Given the description of an element on the screen output the (x, y) to click on. 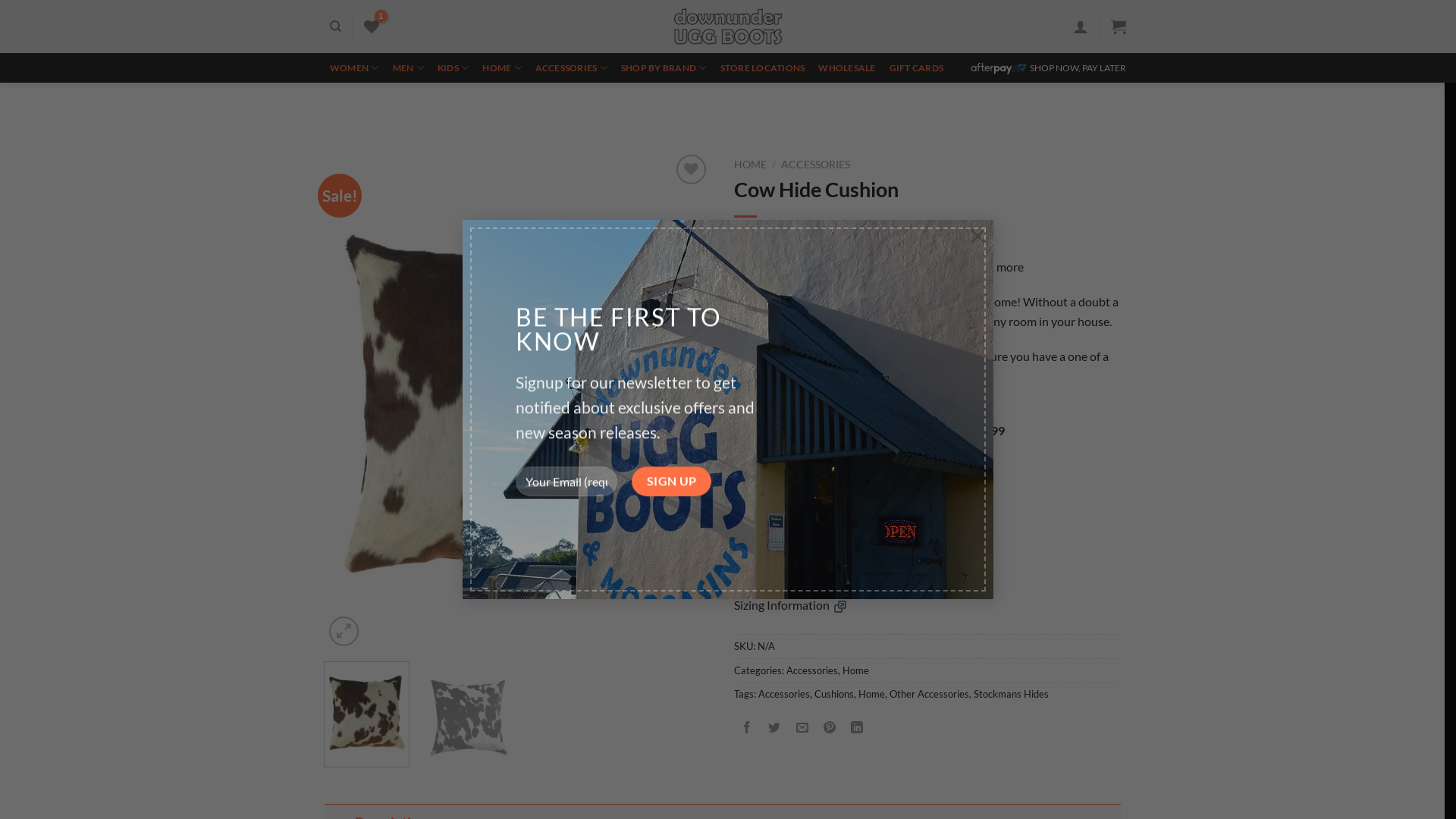
Cart Element type: hover (1118, 26)
Accessories Element type: text (783, 693)
Sign Up Element type: text (671, 461)
Home Element type: text (871, 693)
HOME Element type: text (501, 67)
Qty Element type: hover (765, 545)
cushion_cowhide_brown_white_main Element type: hover (517, 399)
Black Element type: hover (773, 495)
ADD TO CART Element type: text (872, 545)
ACCESSORIES Element type: text (571, 67)
Cushions Element type: text (833, 693)
ACCESSORIES Element type: text (815, 164)
STORE LOCATIONS Element type: text (762, 67)
SHOP BY BRAND Element type: text (663, 67)
HOME Element type: text (750, 164)
Home Element type: text (854, 670)
Stockmans Hides Element type: text (1010, 693)
WHOLESALE Element type: text (846, 67)
KIDS Element type: text (452, 67)
Sizing Information   Element type: text (790, 604)
Accessories Element type: text (811, 670)
Other Accessories Element type: text (928, 693)
Chocolate Element type: hover (745, 495)
MEN Element type: text (407, 67)
Learn more Element type: text (993, 266)
GIFT CARDS Element type: text (916, 67)
Downunder Ugg Boots - Authentic Australian Made Ugg Boots Element type: hover (727, 26)
WOMEN Element type: text (354, 67)
